Given the description of an element on the screen output the (x, y) to click on. 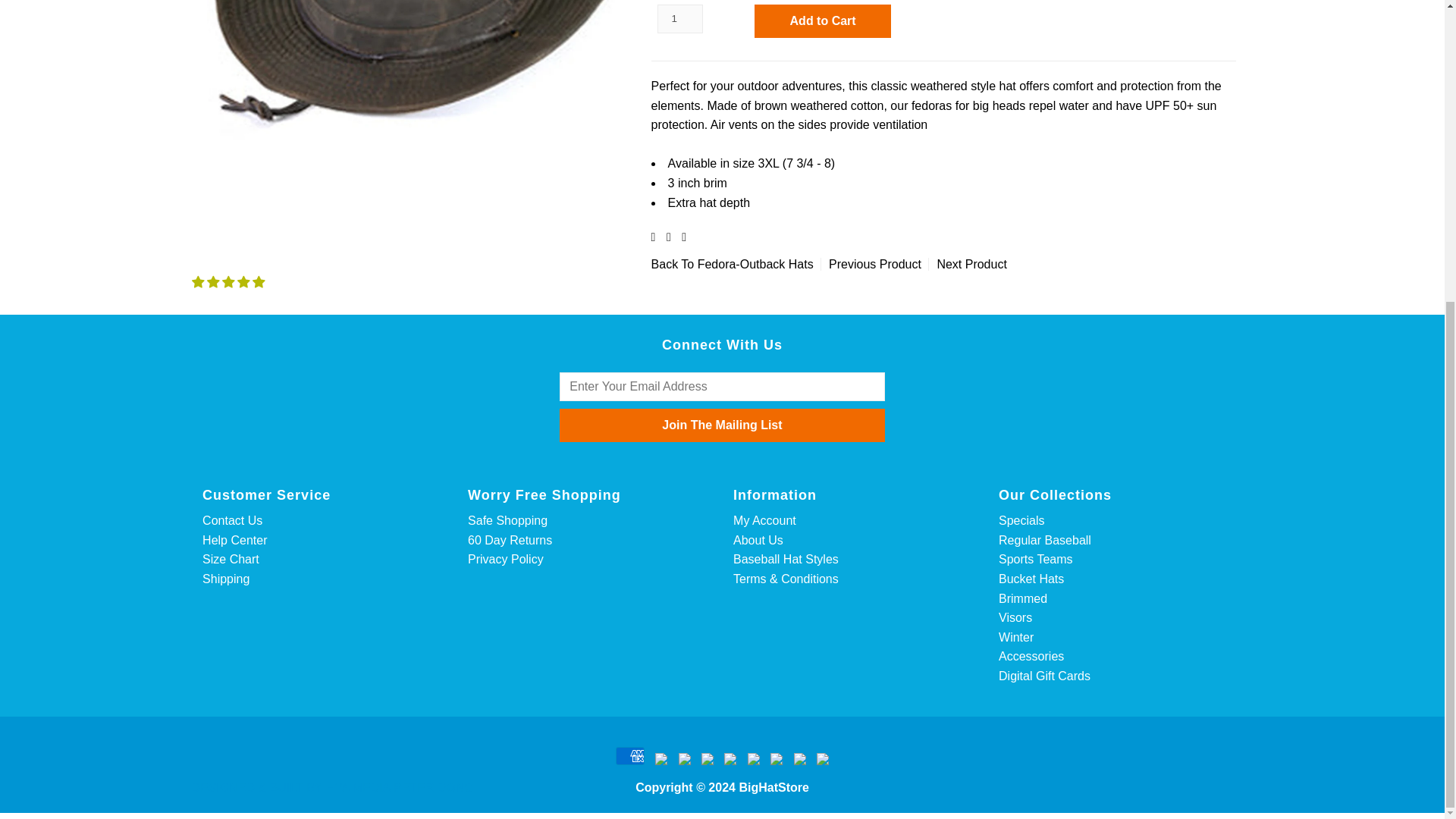
1 (680, 18)
Join The Mailing List (721, 425)
Add to Cart (822, 20)
Weathered Outback Hat (412, 92)
